Given the description of an element on the screen output the (x, y) to click on. 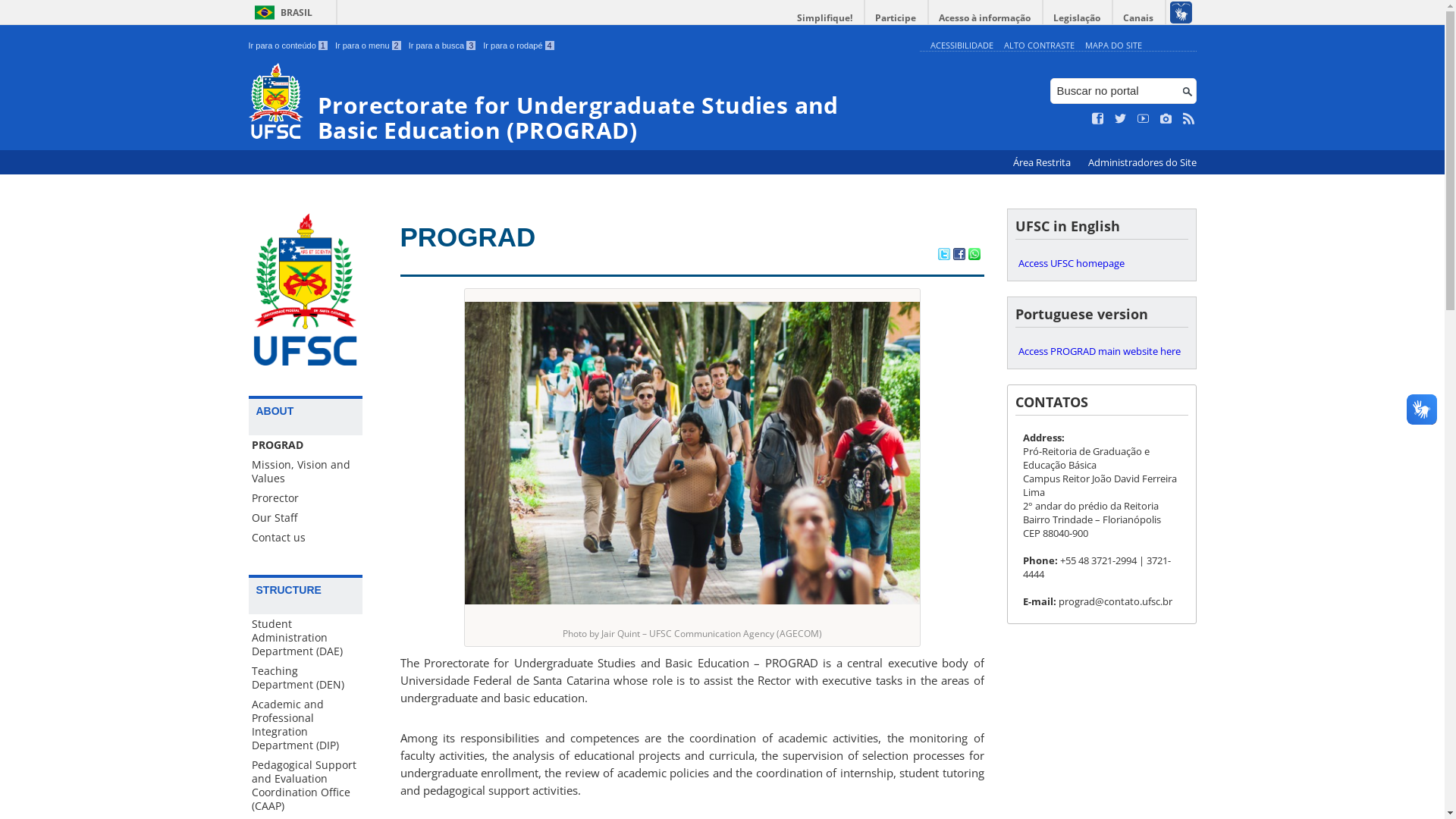
Ir para a busca 3 Element type: text (442, 45)
MAPA DO SITE Element type: text (1112, 44)
Curta no Facebook Element type: hover (1098, 118)
Administradores do Site Element type: text (1141, 162)
PROGRAD Element type: text (305, 445)
Contact us Element type: text (305, 537)
Veja no Instagram Element type: hover (1166, 118)
Compartilhar no WhatsApp Element type: hover (973, 255)
Our Staff Element type: text (305, 517)
Academic and Professional Integration Department (DIP) Element type: text (305, 724)
Student Administration Department (DAE) Element type: text (305, 637)
Siga no Twitter Element type: hover (1120, 118)
Participe Element type: text (895, 18)
ACESSIBILIDADE Element type: text (960, 44)
Access UFSC homepage Element type: text (1100, 263)
Canais Element type: text (1138, 18)
BRASIL Element type: text (280, 12)
Compartilhar no Twitter Element type: hover (943, 255)
PROGRAD Element type: text (468, 236)
Teaching Department (DEN) Element type: text (305, 677)
ALTO CONTRASTE Element type: text (1039, 44)
Prorector Element type: text (305, 498)
Ir para o menu 2 Element type: text (368, 45)
Mission, Vision and Values Element type: text (305, 471)
Access PROGRAD main website here Element type: text (1100, 350)
Simplifique! Element type: text (825, 18)
Compartilhar no Facebook Element type: hover (958, 255)
